Given the description of an element on the screen output the (x, y) to click on. 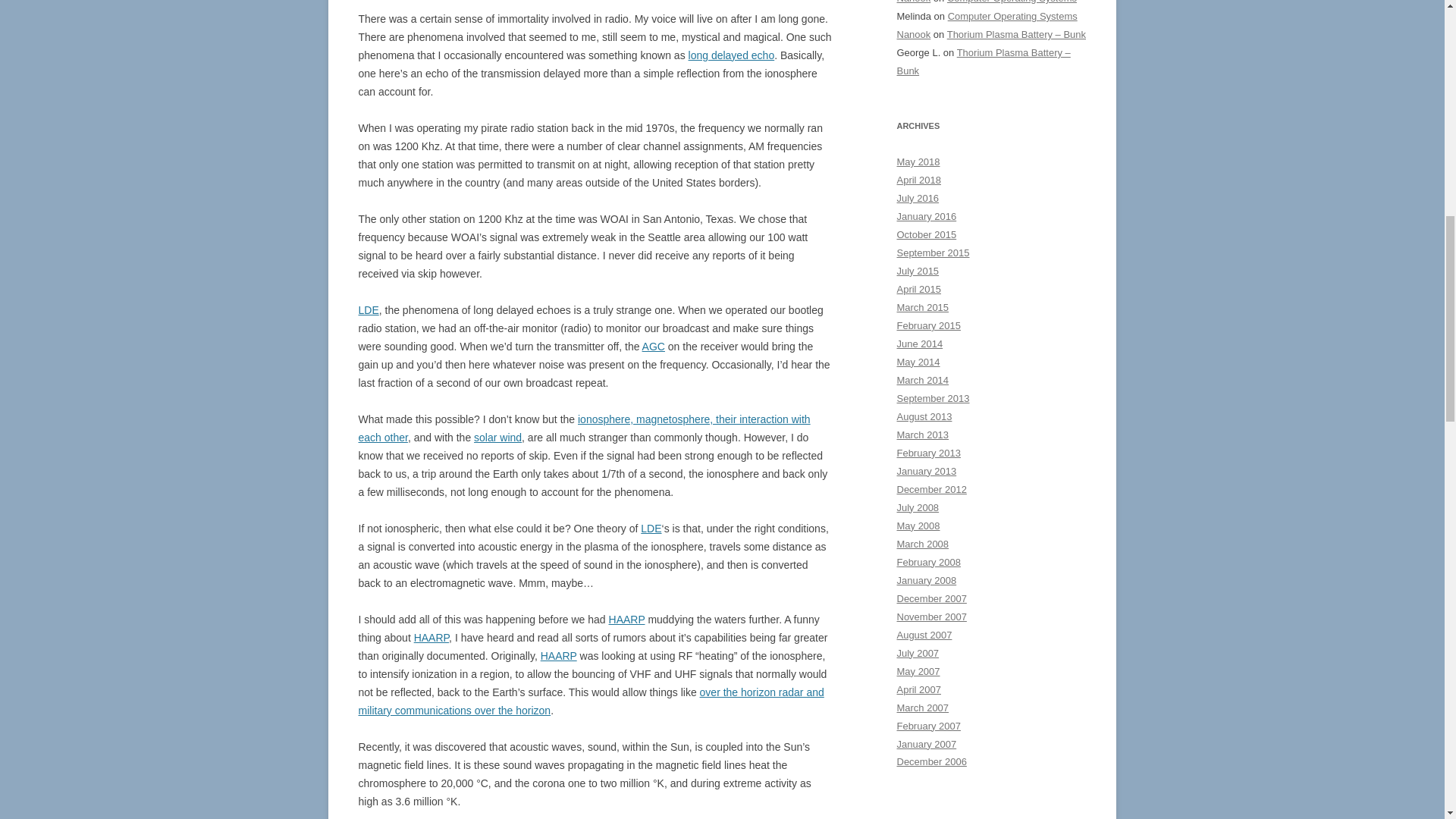
AGC (653, 346)
HAARP (558, 655)
LDE (368, 309)
HAARP (626, 619)
solar wind (497, 437)
HAARP (430, 637)
LDE (650, 528)
long delayed echo (731, 55)
ionosphere, magnetosphere, their interaction with each other (583, 428)
